Given the description of an element on the screen output the (x, y) to click on. 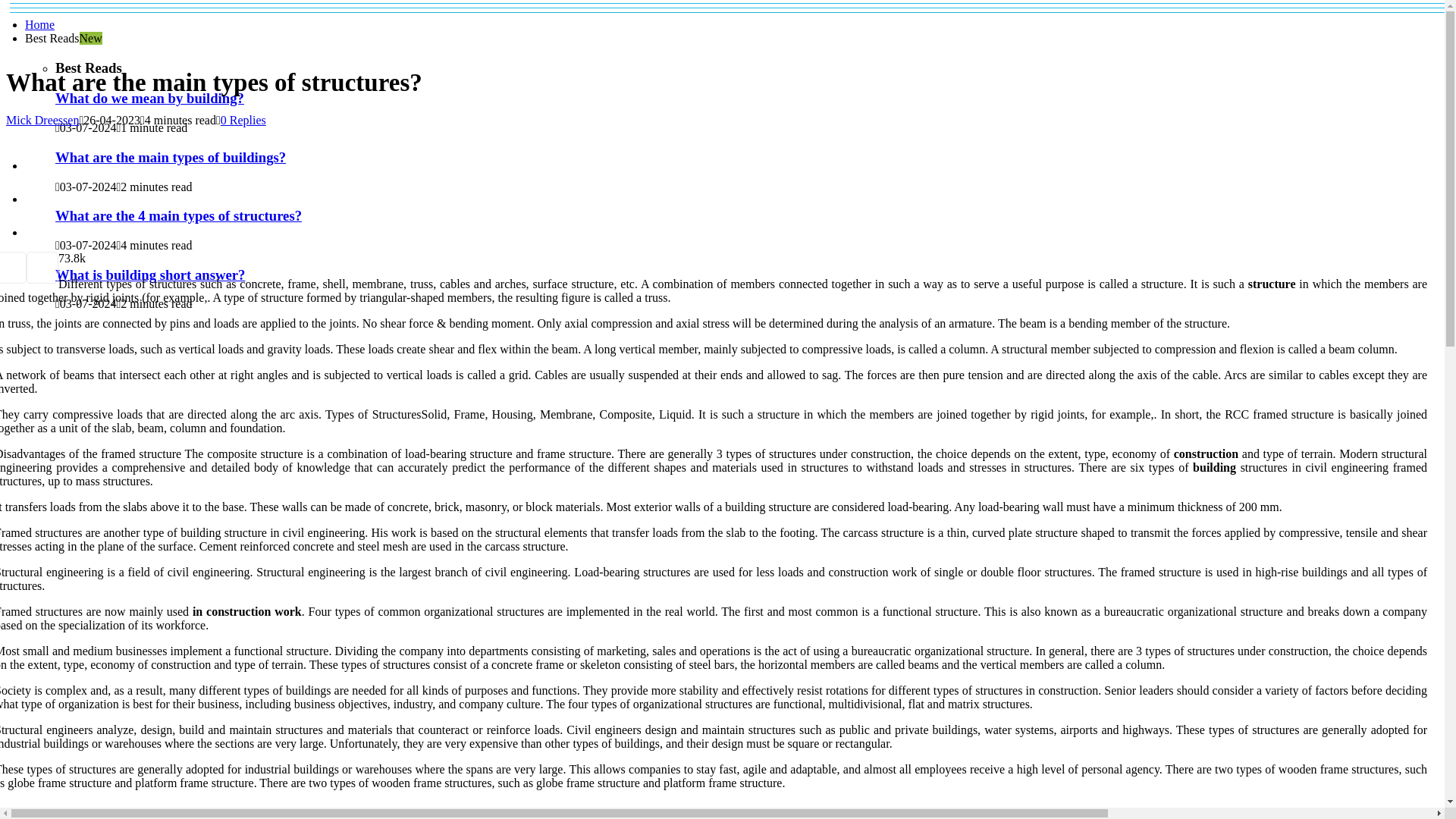
Posts by Mick Dreessen (41, 119)
What do we mean by building? (149, 98)
What are the main types of buildings? (170, 157)
Best ReadsNew (62, 38)
What are the 4 main types of structures? (178, 215)
Home (39, 24)
Mick Dreessen (41, 119)
What is building short answer? (149, 274)
0 Replies (243, 119)
